Given the description of an element on the screen output the (x, y) to click on. 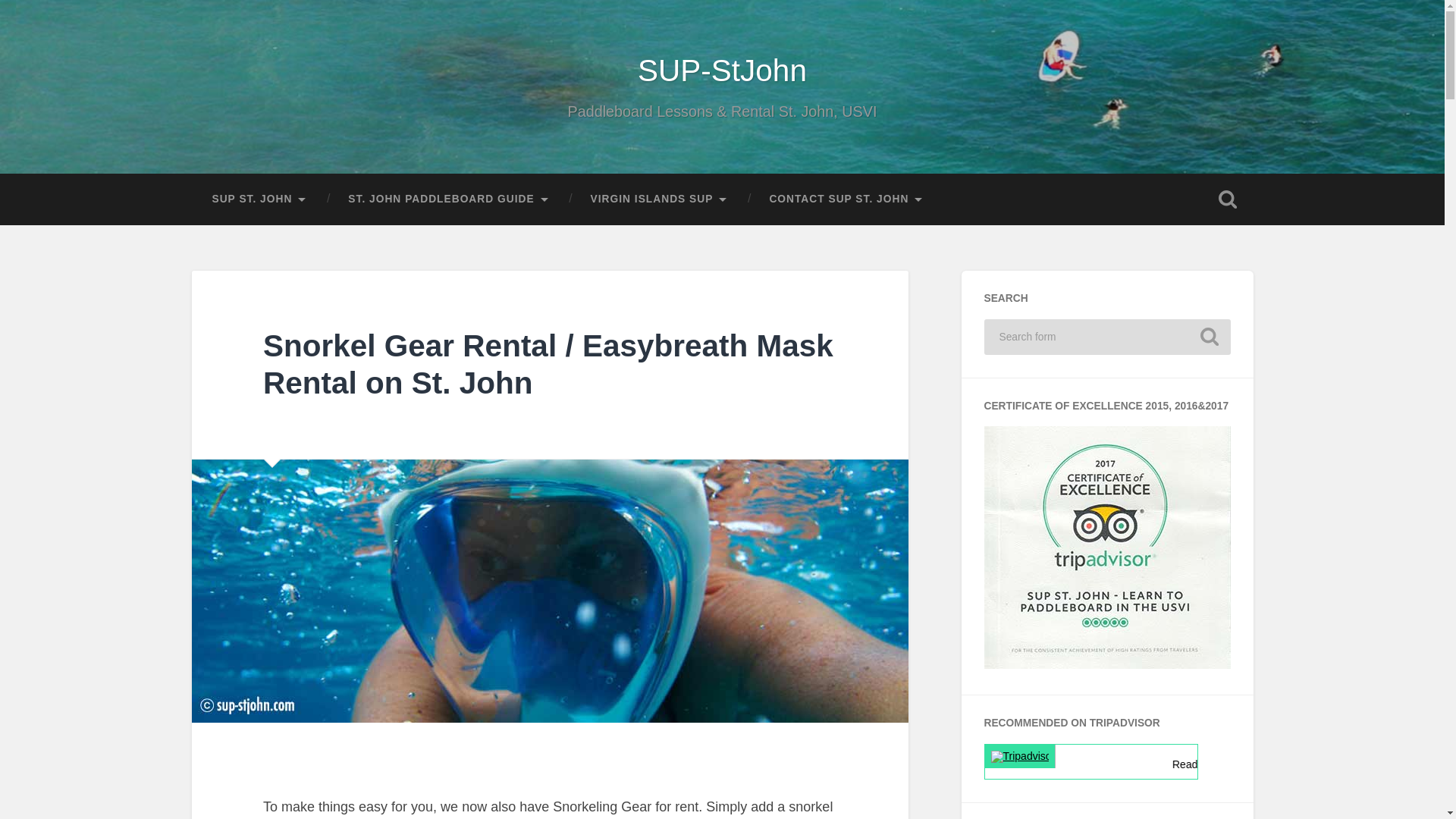
ST. JOHN PADDLEBOARD GUIDE (448, 199)
Search (1209, 336)
SUP-StJohn (721, 70)
SUP ST. JOHN (258, 199)
Search (1209, 336)
